Given the description of an element on the screen output the (x, y) to click on. 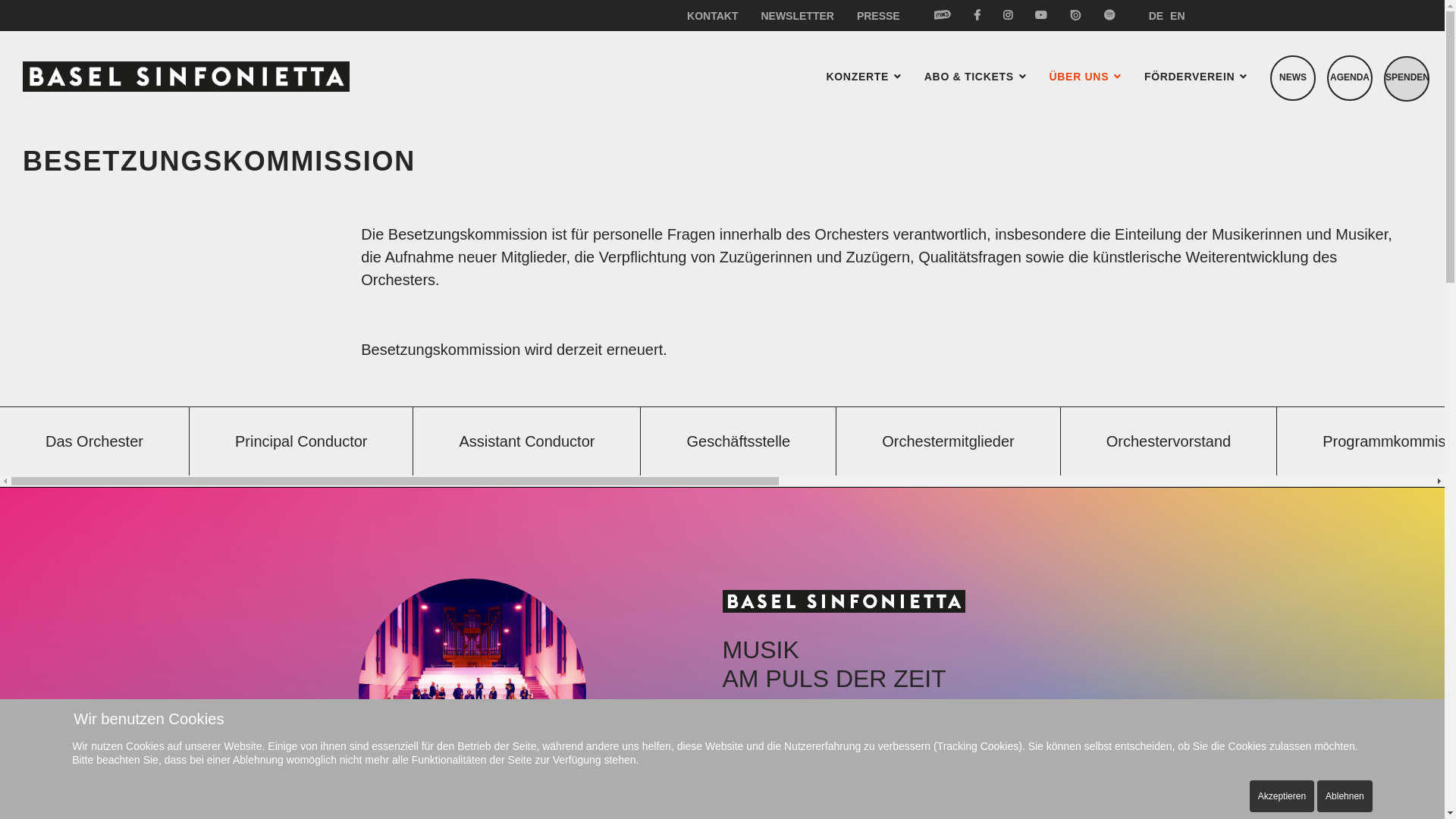
Orchestermitglieder Element type: text (948, 441)
DE Element type: text (1155, 15)
AGENDA Element type: text (1349, 77)
EN Element type: text (1177, 15)
PRESSE Element type: text (872, 15)
neo.mx3 Element type: hover (942, 15)
+41 (0)61 315 10 30 Element type: text (803, 739)
Instagram Element type: hover (1007, 15)
Principal Conductor Element type: text (301, 441)
Spotify Element type: hover (1103, 15)
Akzeptieren Element type: text (1281, 796)
Das Orchester Element type: text (94, 441)
Assistant Conductor Element type: text (526, 441)
YouTube Element type: hover (1040, 15)
NEWSLETTER Element type: text (796, 15)
KONZERTE Element type: text (863, 76)
SPENDEN Element type: text (1406, 78)
KONTAKT Element type: text (712, 15)
info@baselsinfonietta.ch Element type: text (818, 761)
NEWS Element type: text (1292, 77)
Ablehnen Element type: text (1344, 796)
Eptingerstrasse 27, CH-4052 Basel Element type: text (854, 716)
Orchestervorstand Element type: text (1168, 441)
Issuu Element type: hover (1075, 15)
Facebook Element type: hover (976, 15)
ABO & TICKETS Element type: text (975, 76)
